Given the description of an element on the screen output the (x, y) to click on. 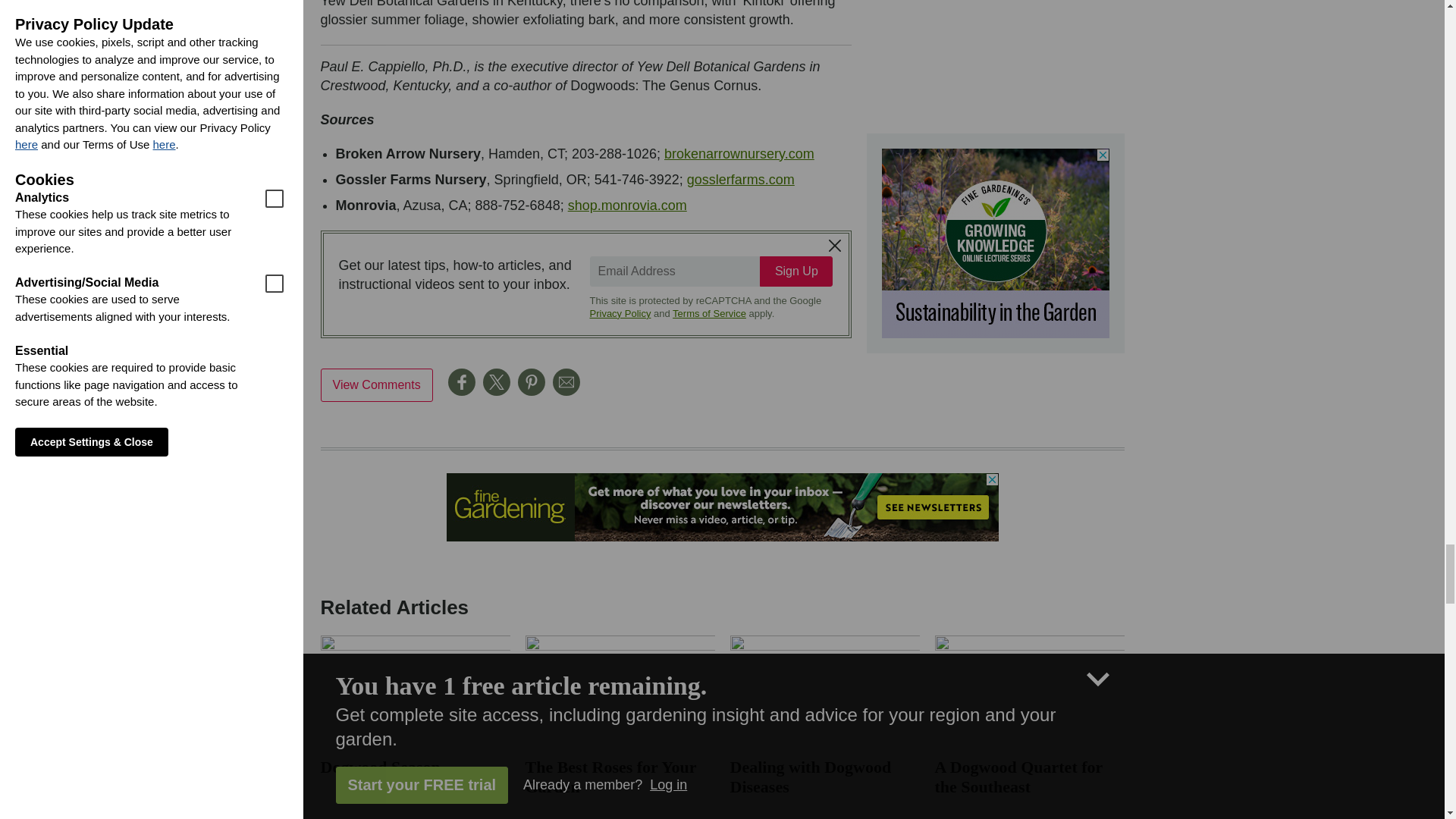
3rd party ad content (721, 507)
3rd party ad content (994, 243)
